Given the description of an element on the screen output the (x, y) to click on. 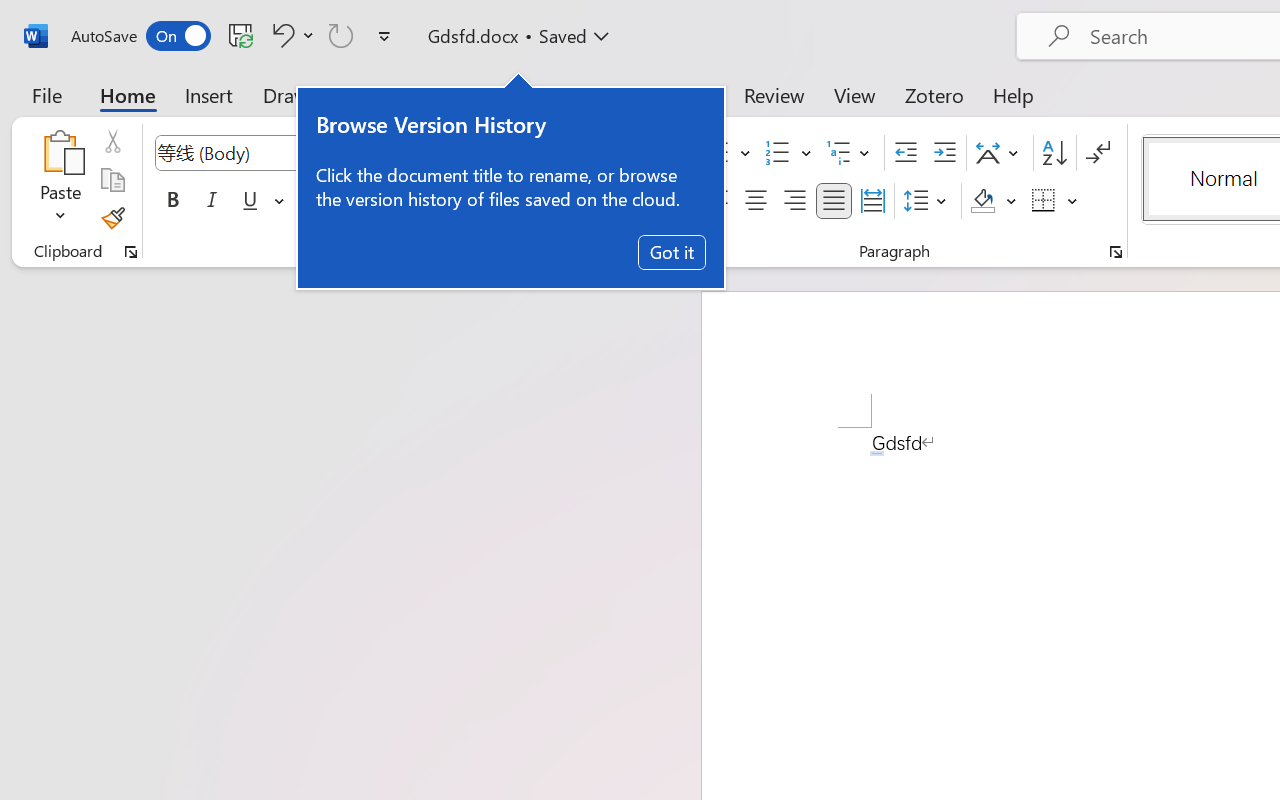
Character Shading (618, 201)
Clear Formatting (578, 153)
Copy (112, 179)
Text Highlight Color Yellow (495, 201)
Line and Paragraph Spacing (927, 201)
Center (756, 201)
Got it (671, 252)
Bold (172, 201)
Phonetic Guide... (618, 153)
